Given the description of an element on the screen output the (x, y) to click on. 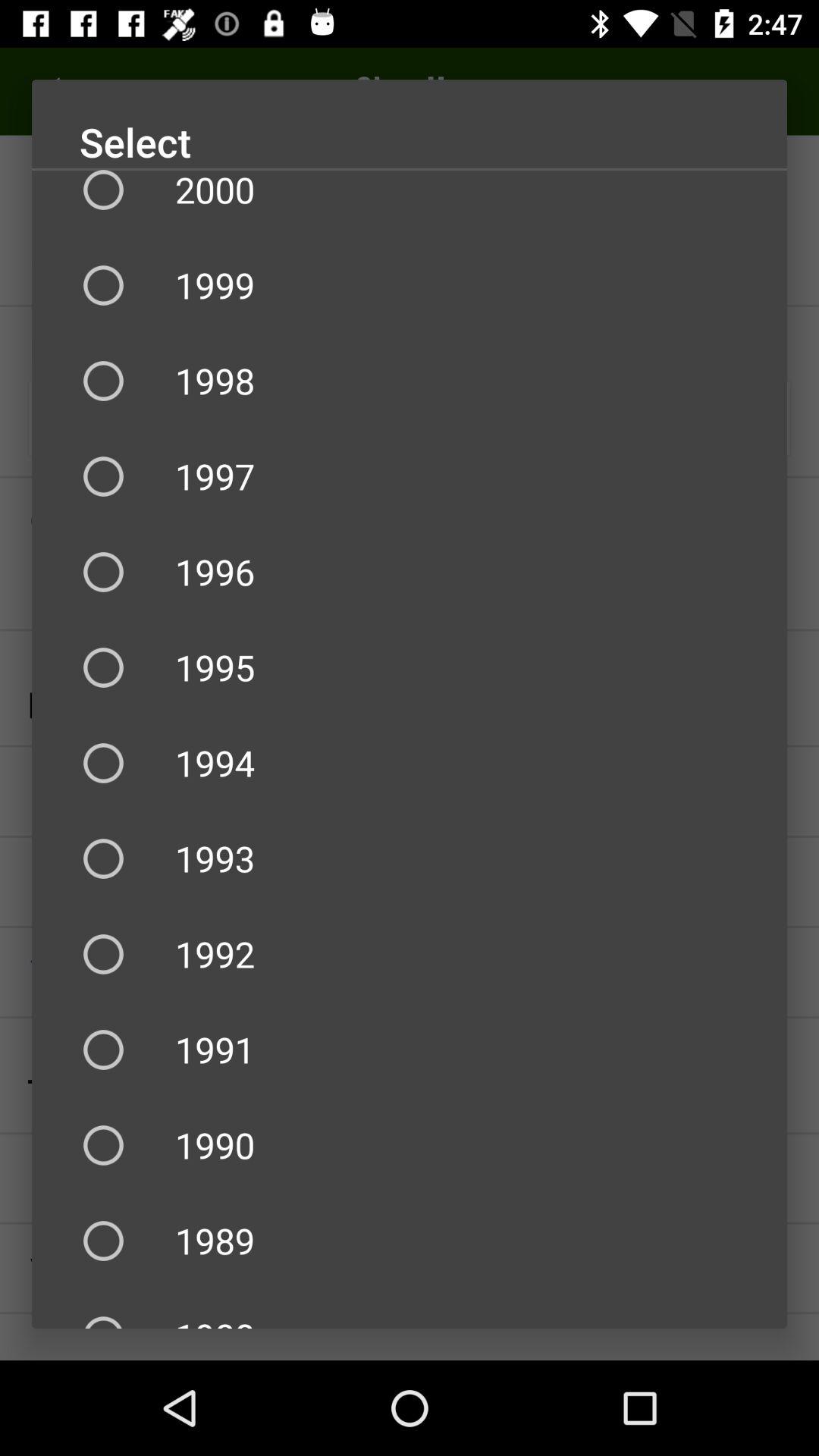
turn on 1990 (409, 1145)
